Given the description of an element on the screen output the (x, y) to click on. 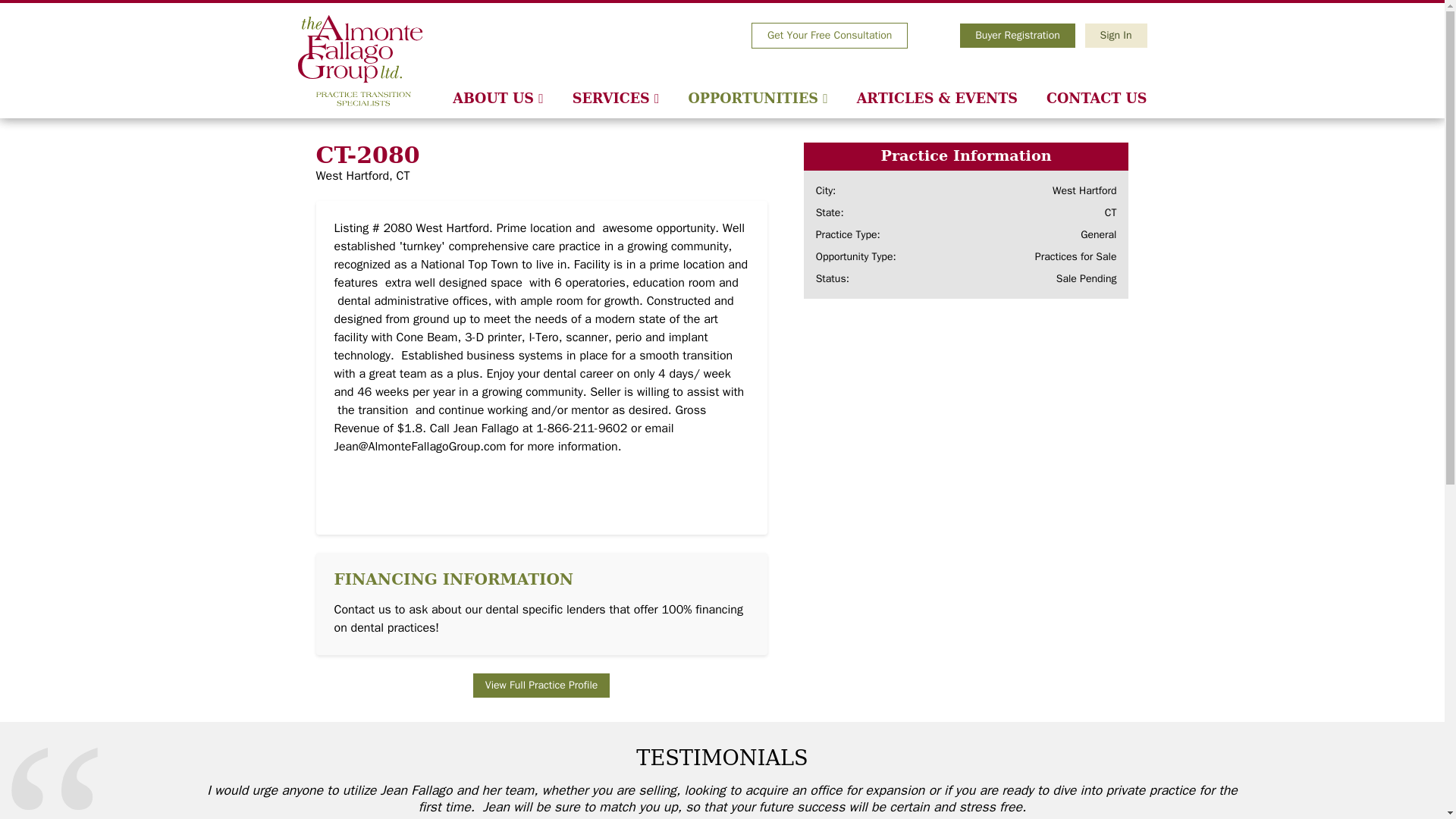
OPPORTUNITIES (757, 97)
ABOUT US (497, 97)
Sign In (1115, 35)
Buyer Registration (1017, 35)
SERVICES (615, 97)
Get Your Free Consultation (829, 35)
